Given the description of an element on the screen output the (x, y) to click on. 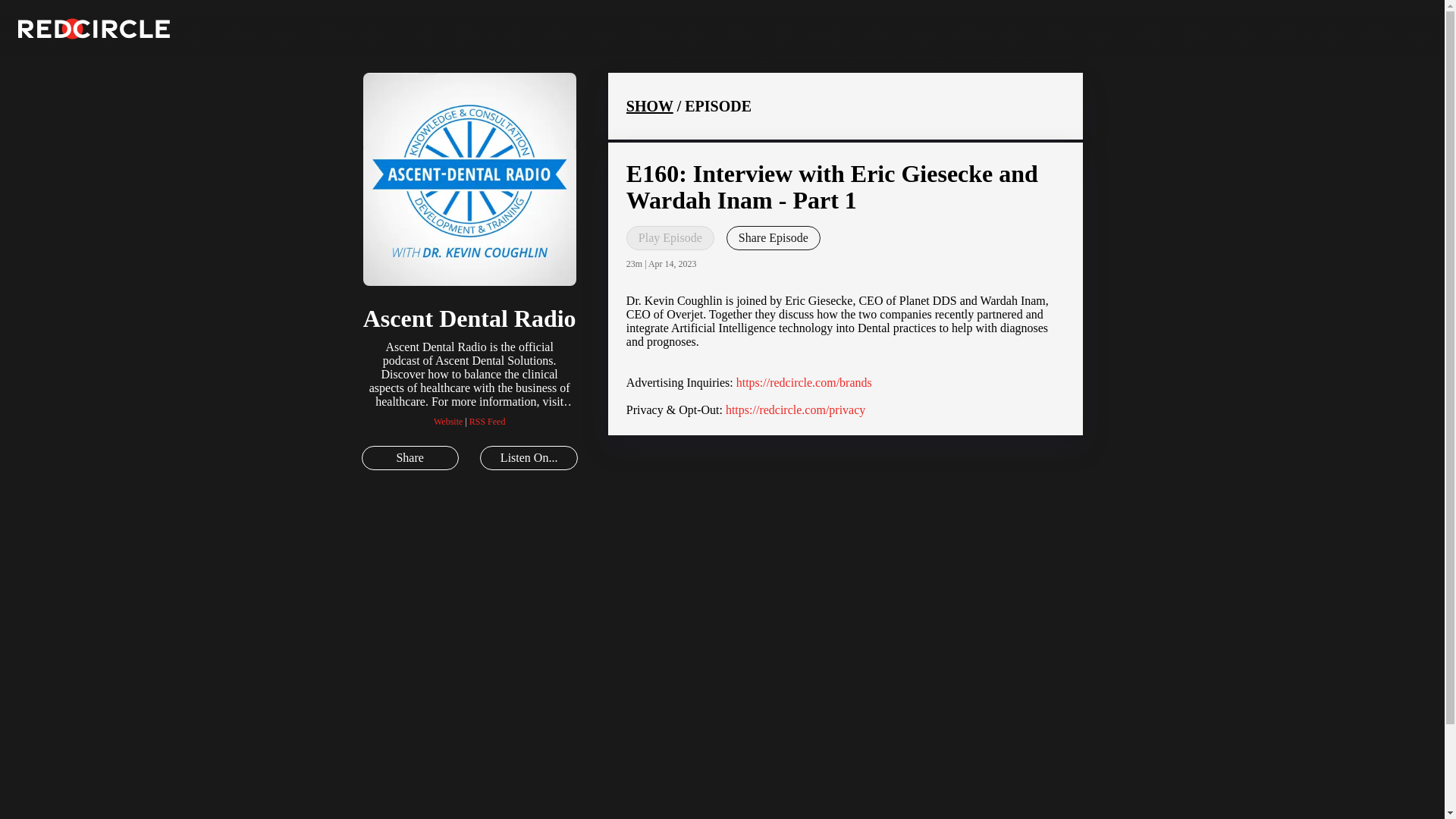
Listen On... (528, 457)
Share Episode (773, 238)
Website (448, 421)
Play Episode (670, 238)
Share (409, 457)
RSS Feed (486, 421)
SHOW (649, 105)
